Given the description of an element on the screen output the (x, y) to click on. 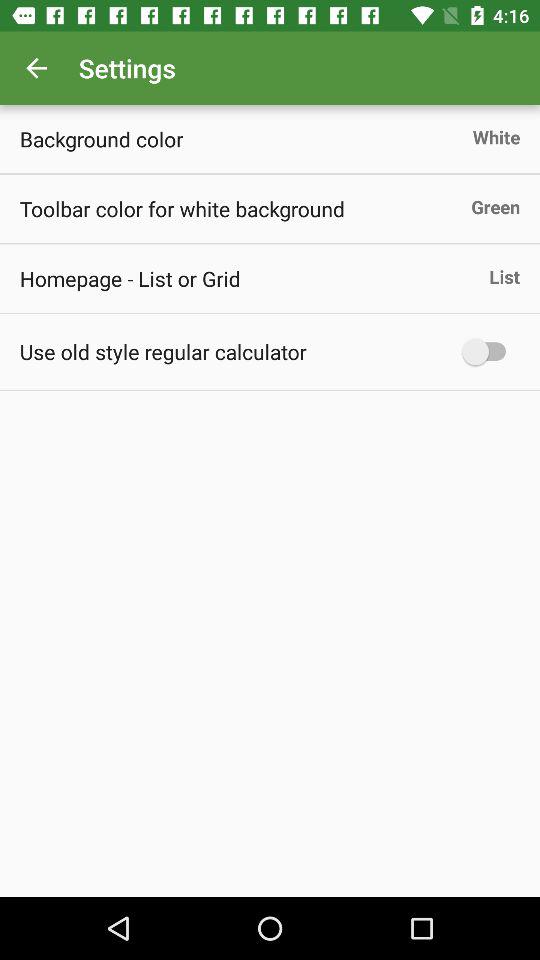
tap item to the left of green icon (182, 208)
